Given the description of an element on the screen output the (x, y) to click on. 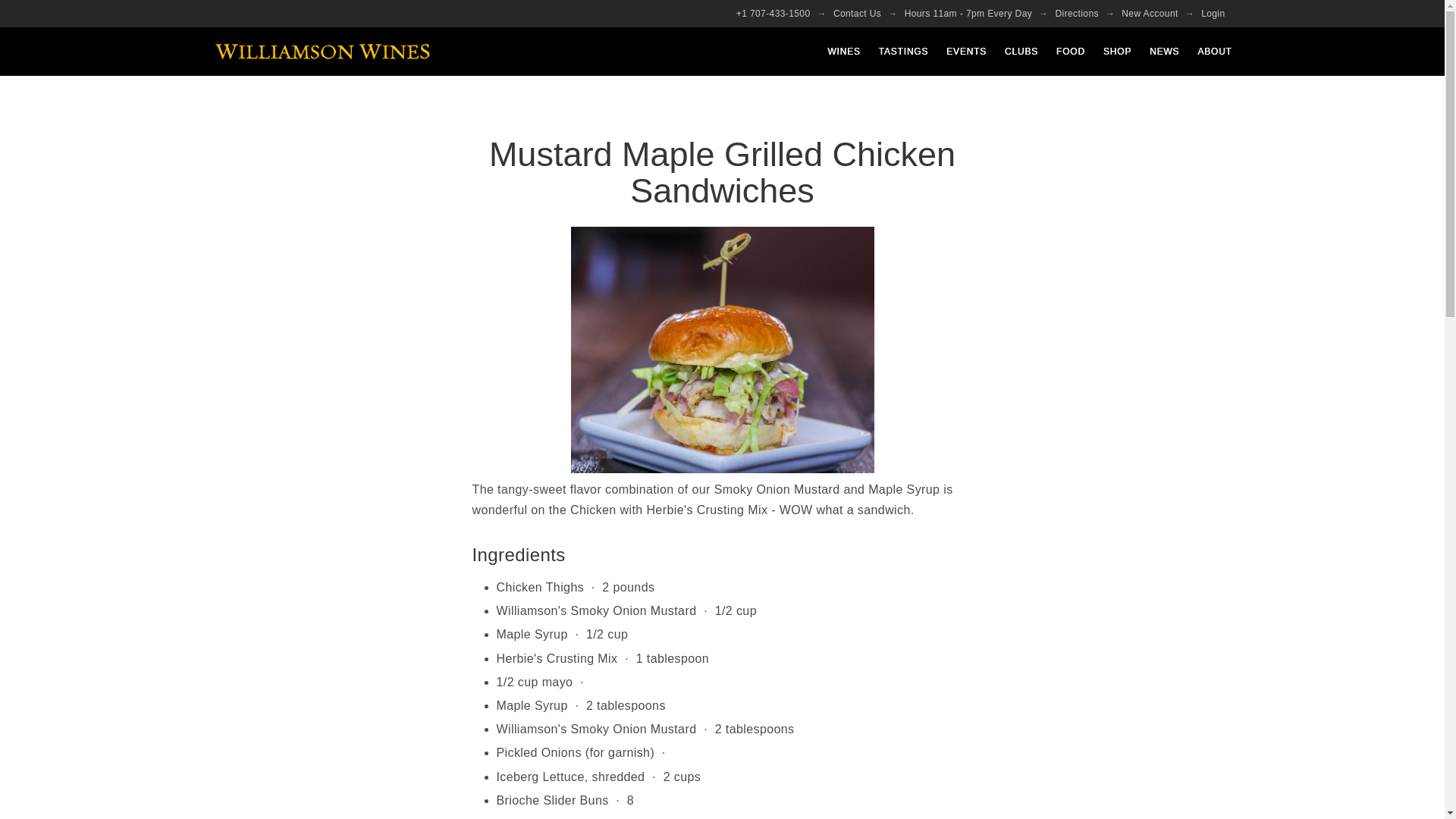
Directions (1076, 13)
New Account (1150, 13)
Contact Us (857, 13)
Login (1212, 13)
Hours 11am - 7pm Every Day (968, 13)
